Given the description of an element on the screen output the (x, y) to click on. 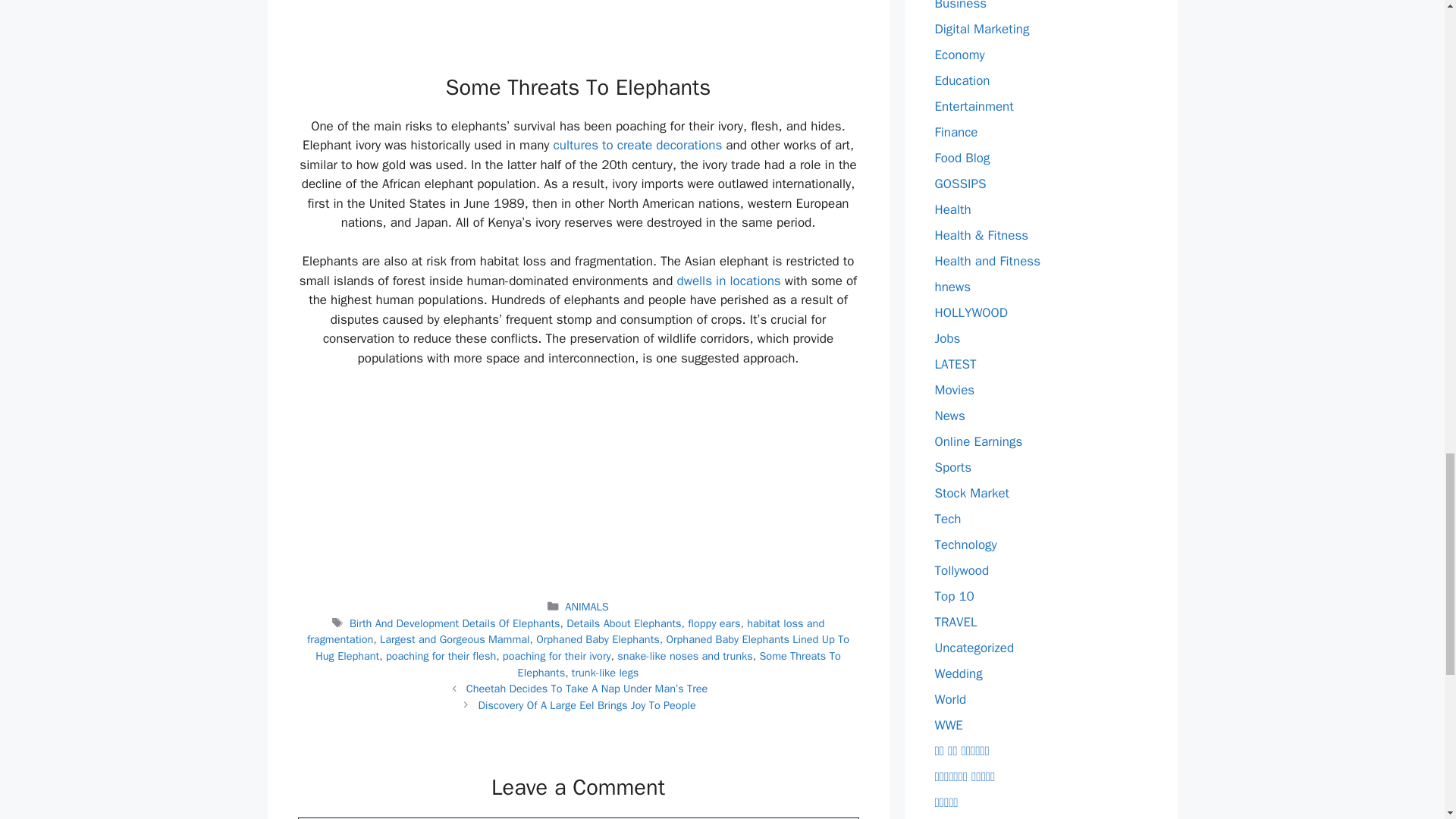
Some Threats To Elephants (679, 664)
ANIMALS (586, 606)
Birth And Development Details Of Elephants (454, 622)
cultures to create decorations (637, 145)
floppy ears (713, 622)
poaching for their flesh (440, 655)
dwells in locations (728, 280)
poaching for their ivory (556, 655)
Discovery Of A Large Eel Brings Joy To People (586, 704)
Largest and Gorgeous Mammal (454, 639)
Orphaned Baby Elephants (597, 639)
Orphaned Baby Elephants Lined Up To Hug Elephant (581, 647)
snake-like noses and trunks (684, 655)
Details About Elephants (623, 622)
habitat loss and fragmentation (565, 631)
